Given the description of an element on the screen output the (x, y) to click on. 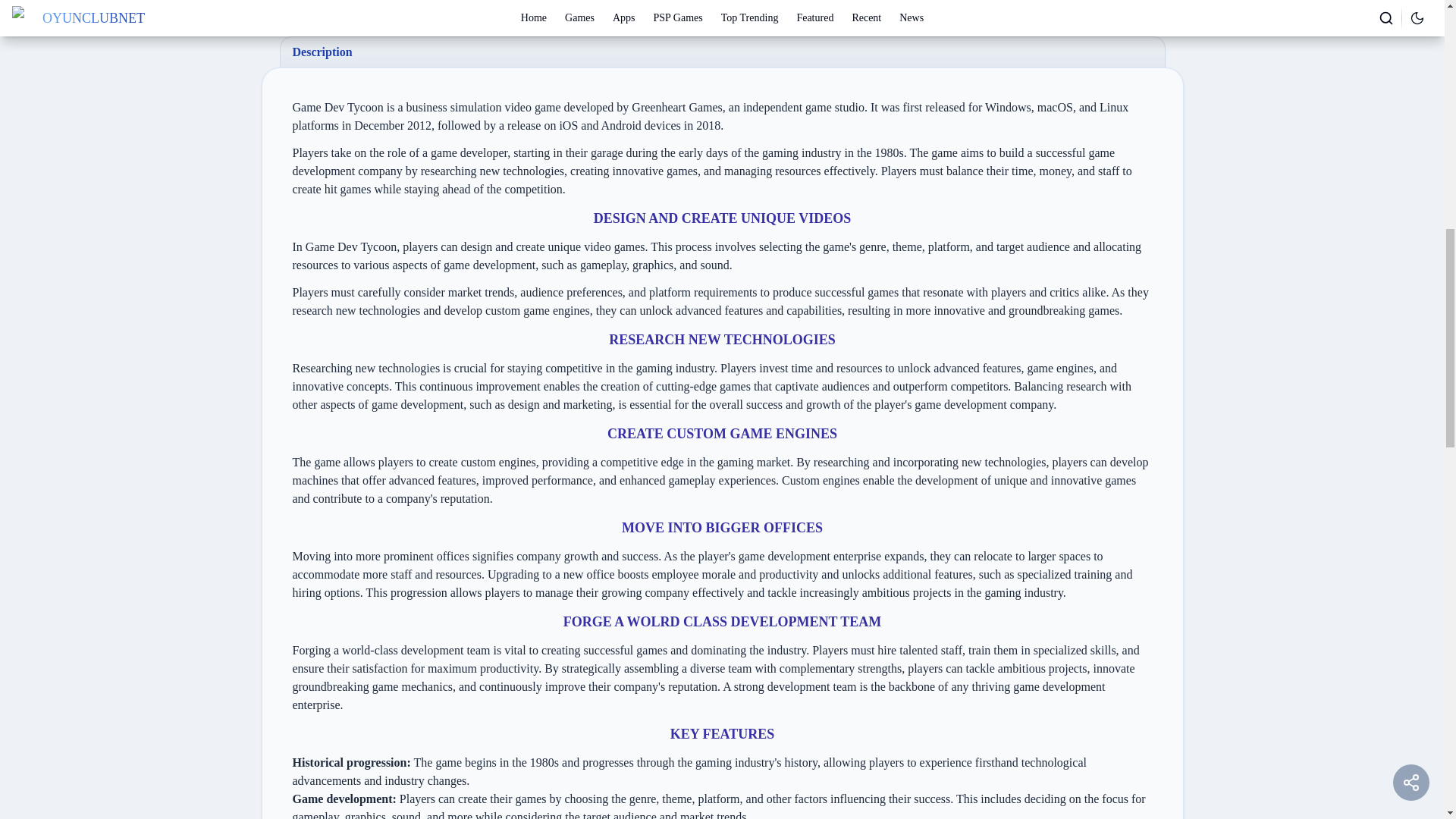
Description (721, 51)
